Given the description of an element on the screen output the (x, y) to click on. 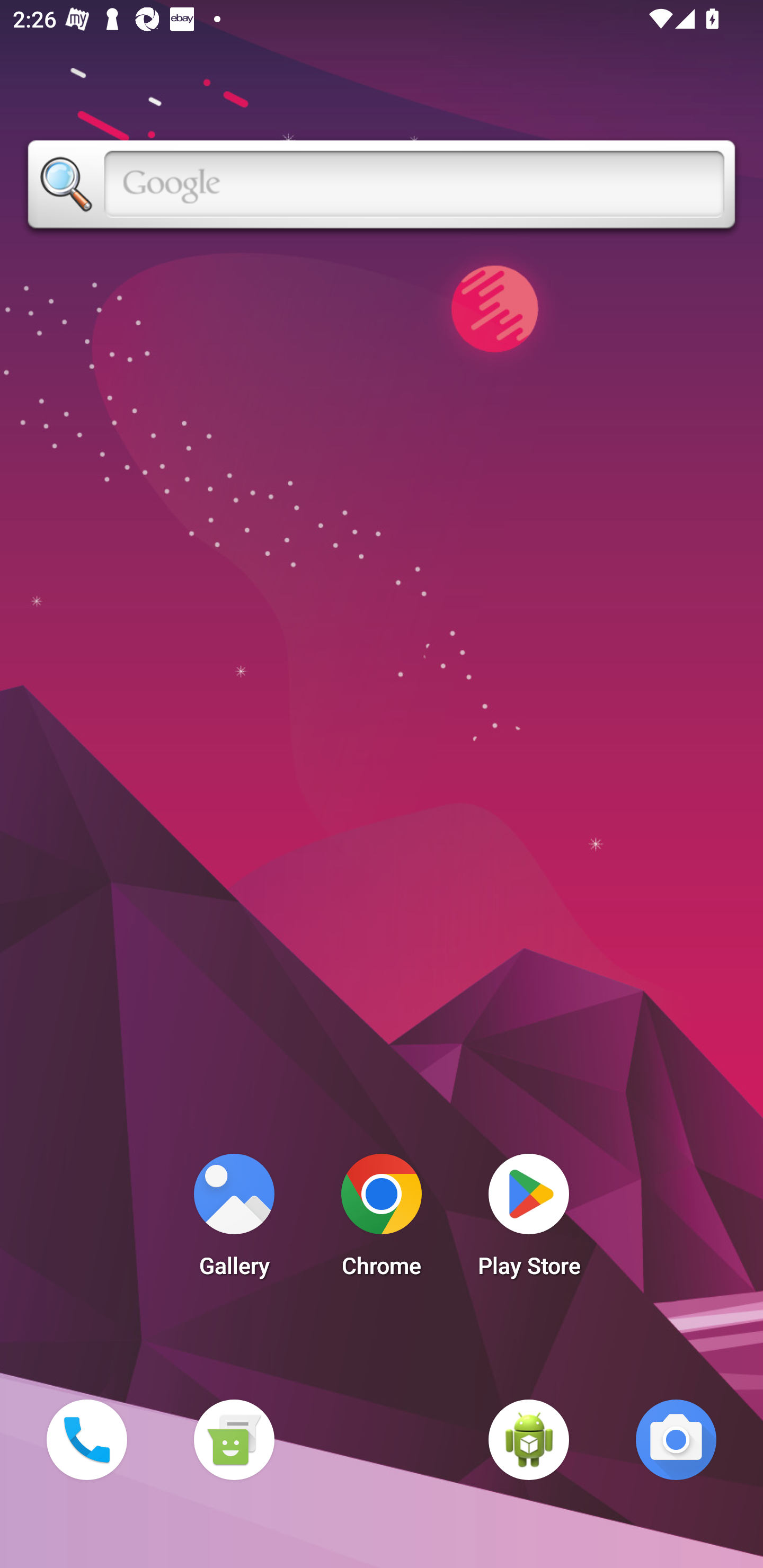
Gallery (233, 1220)
Chrome (381, 1220)
Play Store (528, 1220)
Phone (86, 1439)
Messaging (233, 1439)
WebView Browser Tester (528, 1439)
Camera (676, 1439)
